Given the description of an element on the screen output the (x, y) to click on. 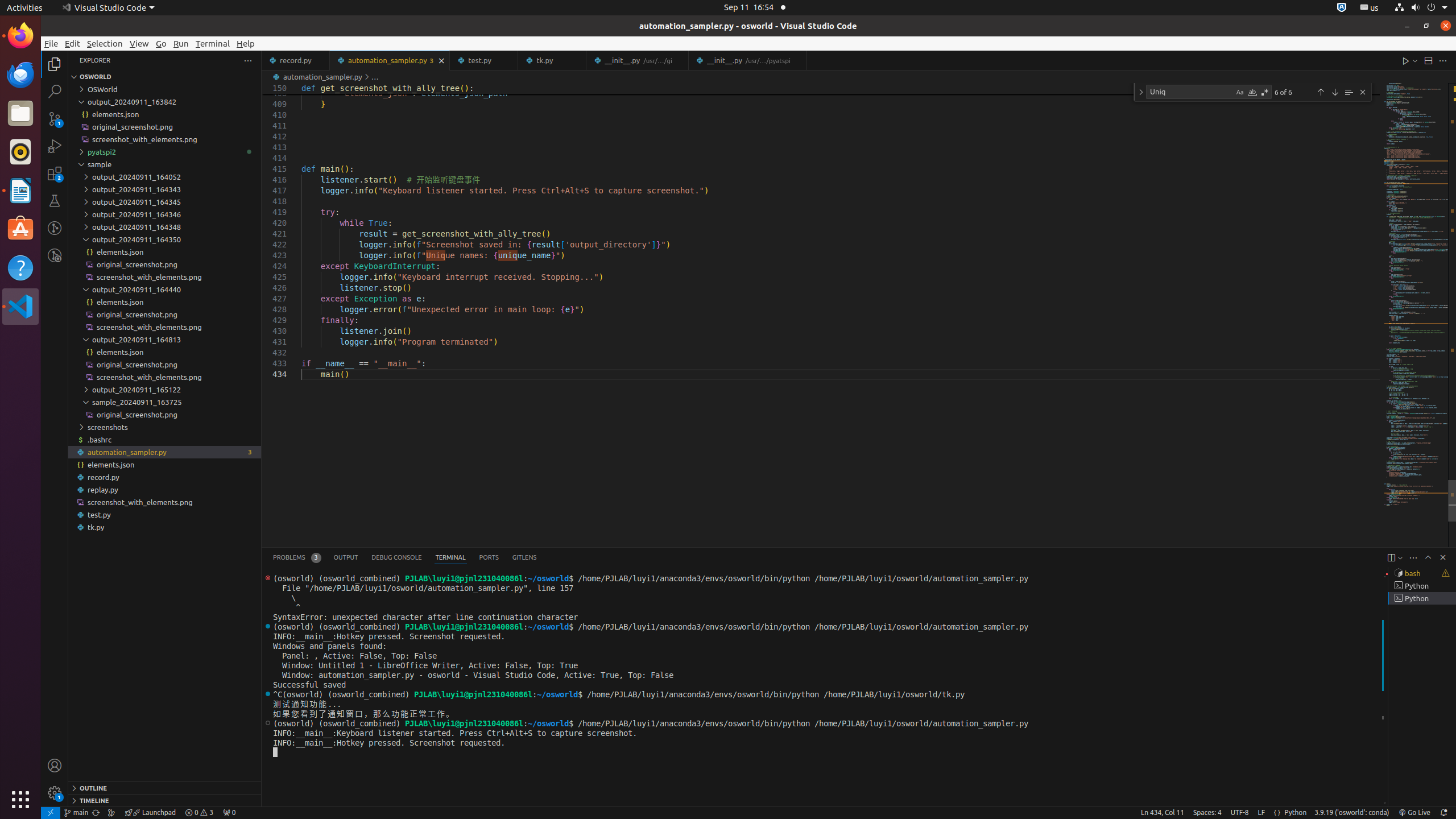
Find in Selection (Alt+L) Element type: check-box (1348, 91)
output_20240911_164346 Element type: tree-item (164, 214)
Run Python File Element type: push-button (1405, 60)
replay.py Element type: tree-item (164, 489)
